Given the description of an element on the screen output the (x, y) to click on. 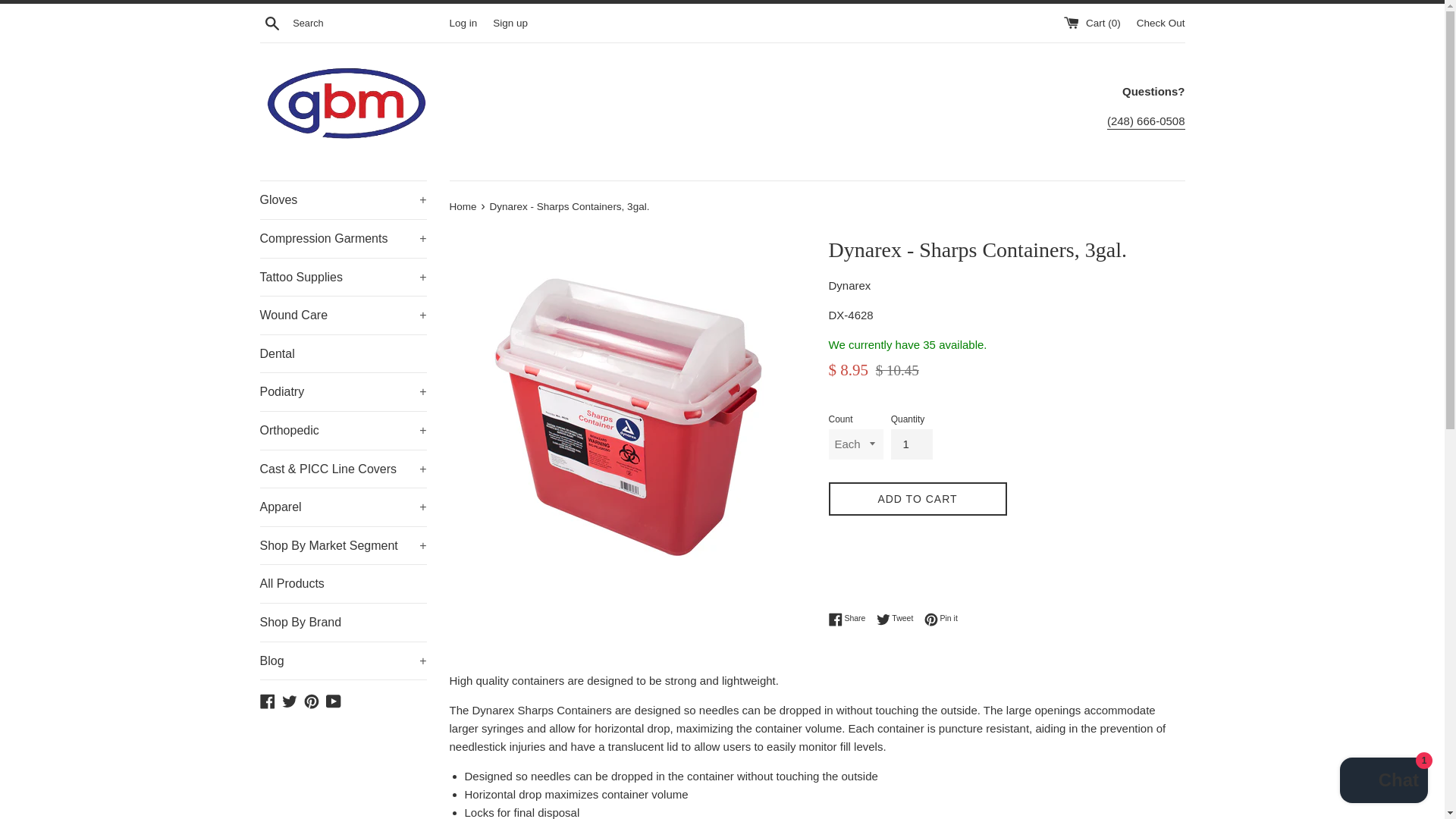
Shopping Cart (1093, 21)
GoBioMed on Pinterest (311, 699)
Back to the frontpage (463, 206)
1 (912, 444)
Pin on Pinterest (941, 618)
Shopify online store chat (1383, 781)
Tweet on Twitter (898, 618)
Log in (462, 21)
Share on Facebook (850, 618)
Dental (342, 353)
Check Out (1161, 21)
Search (271, 21)
Sign up (510, 21)
GoBioMed on Twitter (289, 699)
GoBioMed on YouTube (333, 699)
